Given the description of an element on the screen output the (x, y) to click on. 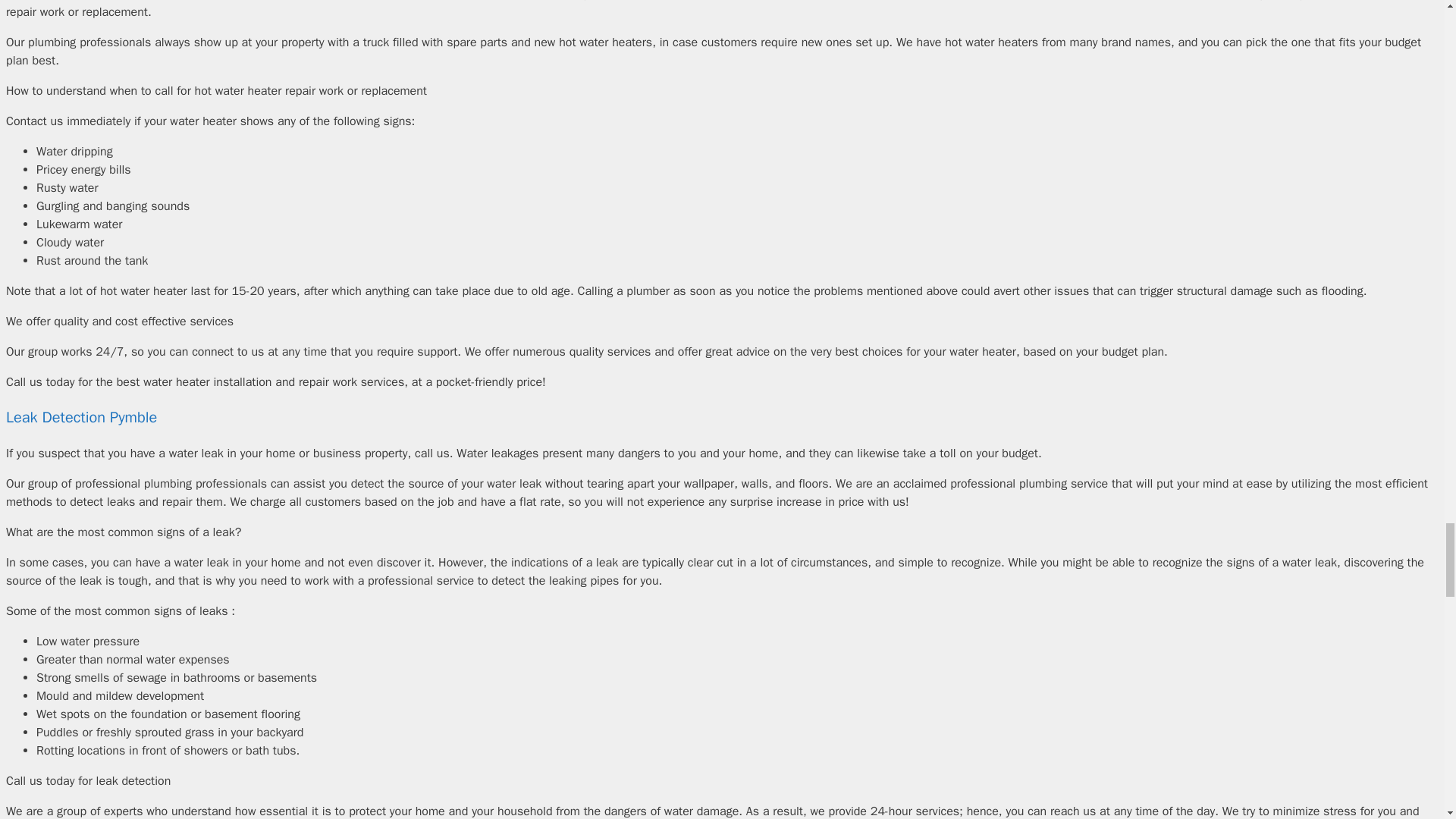
Leak Detection Pymble (81, 416)
